Given the description of an element on the screen output the (x, y) to click on. 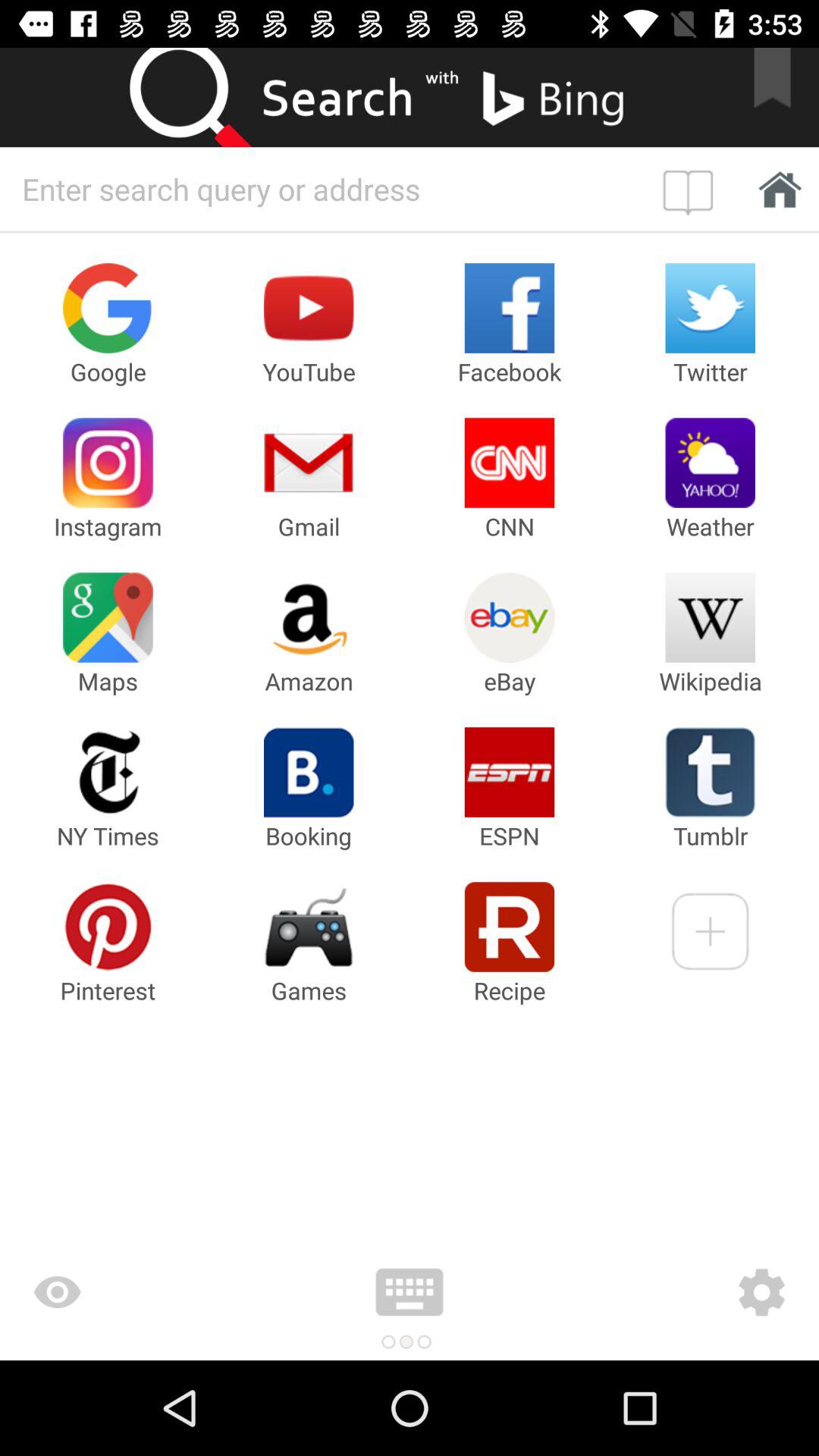
type your search (327, 189)
